Given the description of an element on the screen output the (x, y) to click on. 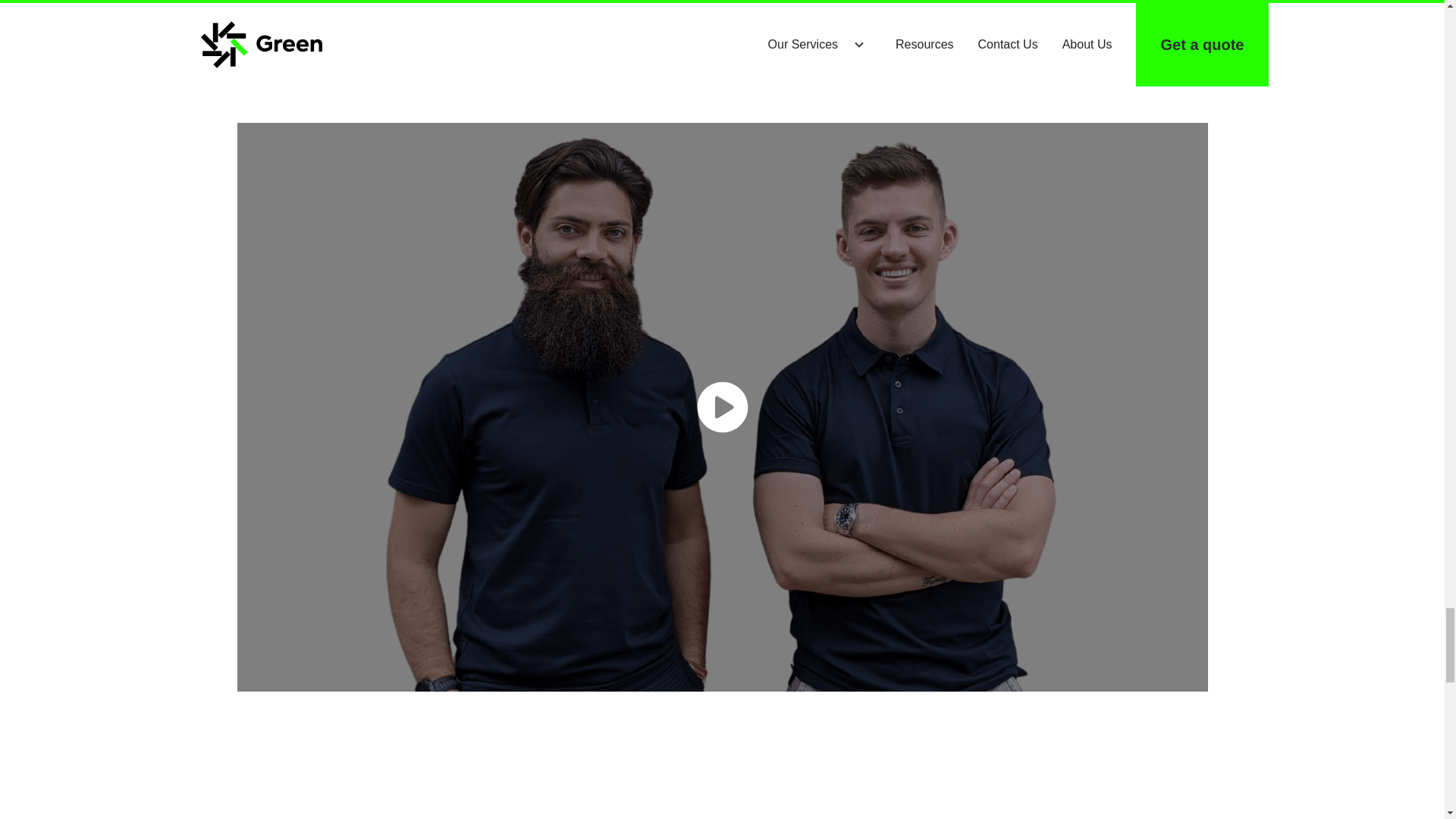
Learn More (812, 40)
